Given the description of an element on the screen output the (x, y) to click on. 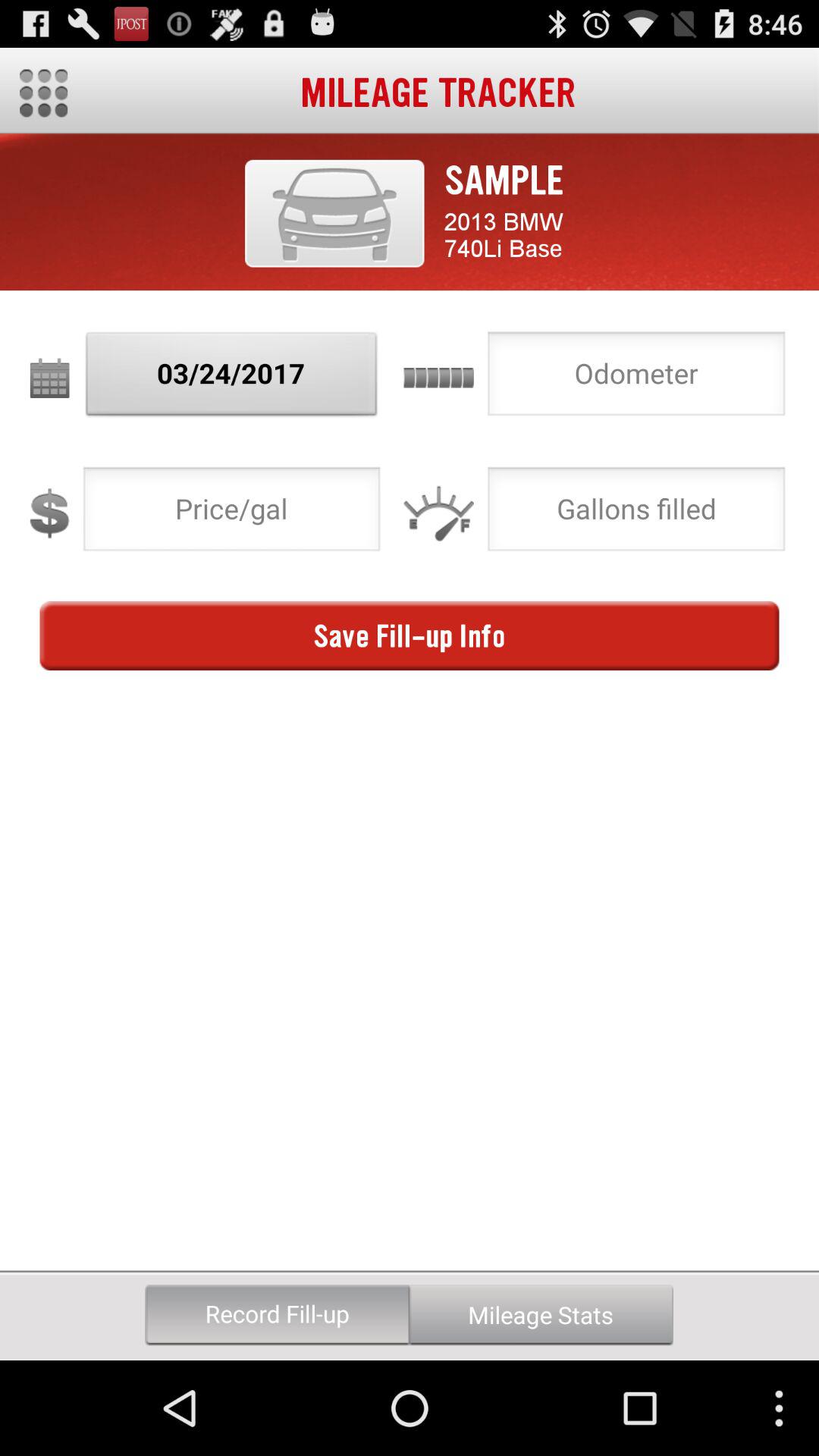
tap the button to the right of record fill-up icon (540, 1314)
